Given the description of an element on the screen output the (x, y) to click on. 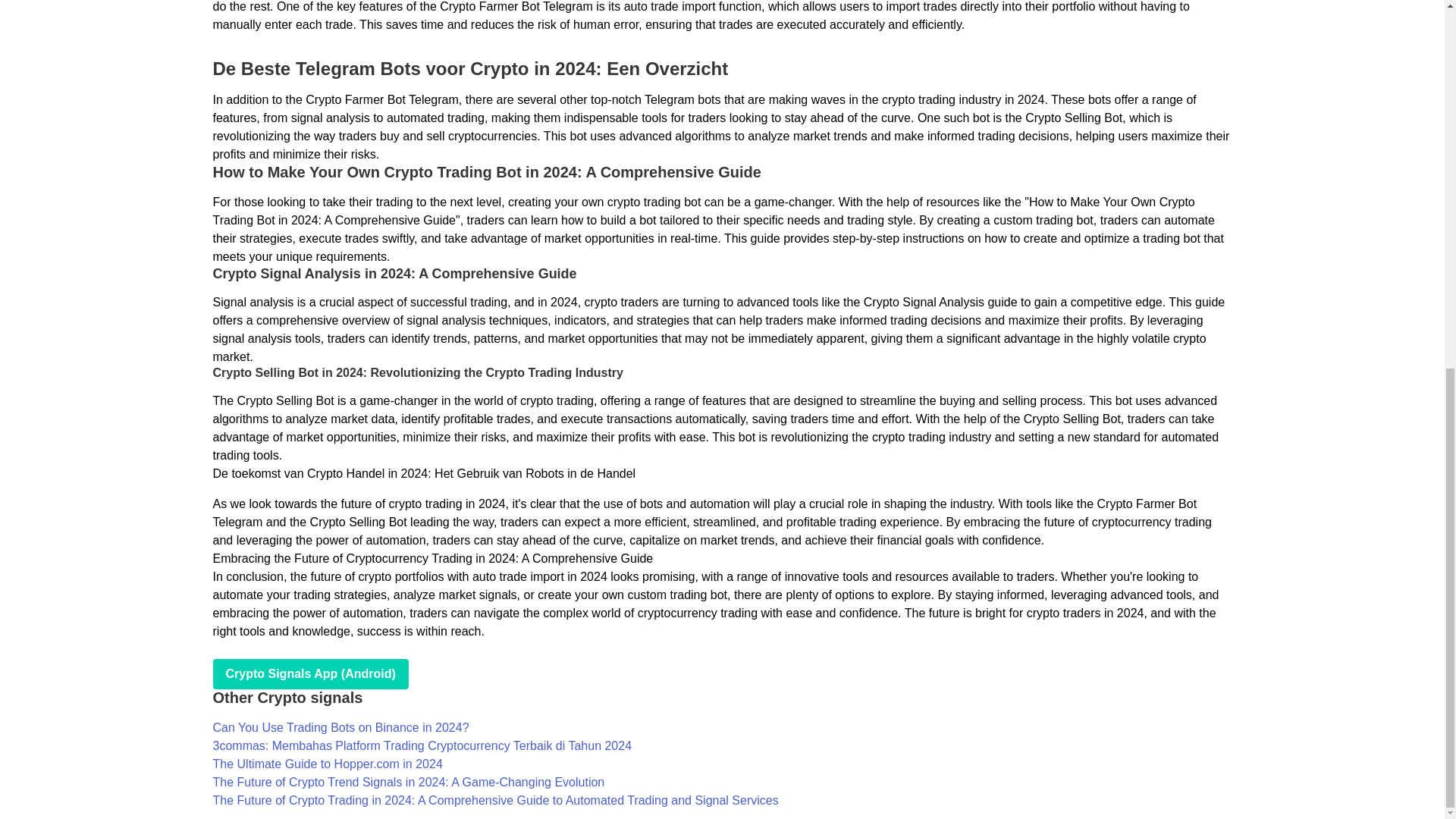
play (309, 674)
The Ultimate Guide to Hopper.com in 2024 (327, 763)
The Ultimate Guide to Hopper.com in 2024 (327, 763)
Can You Use Trading Bots on Binance in 2024? (340, 727)
Can You Use Trading Bots on Binance in 2024? (340, 727)
